Given the description of an element on the screen output the (x, y) to click on. 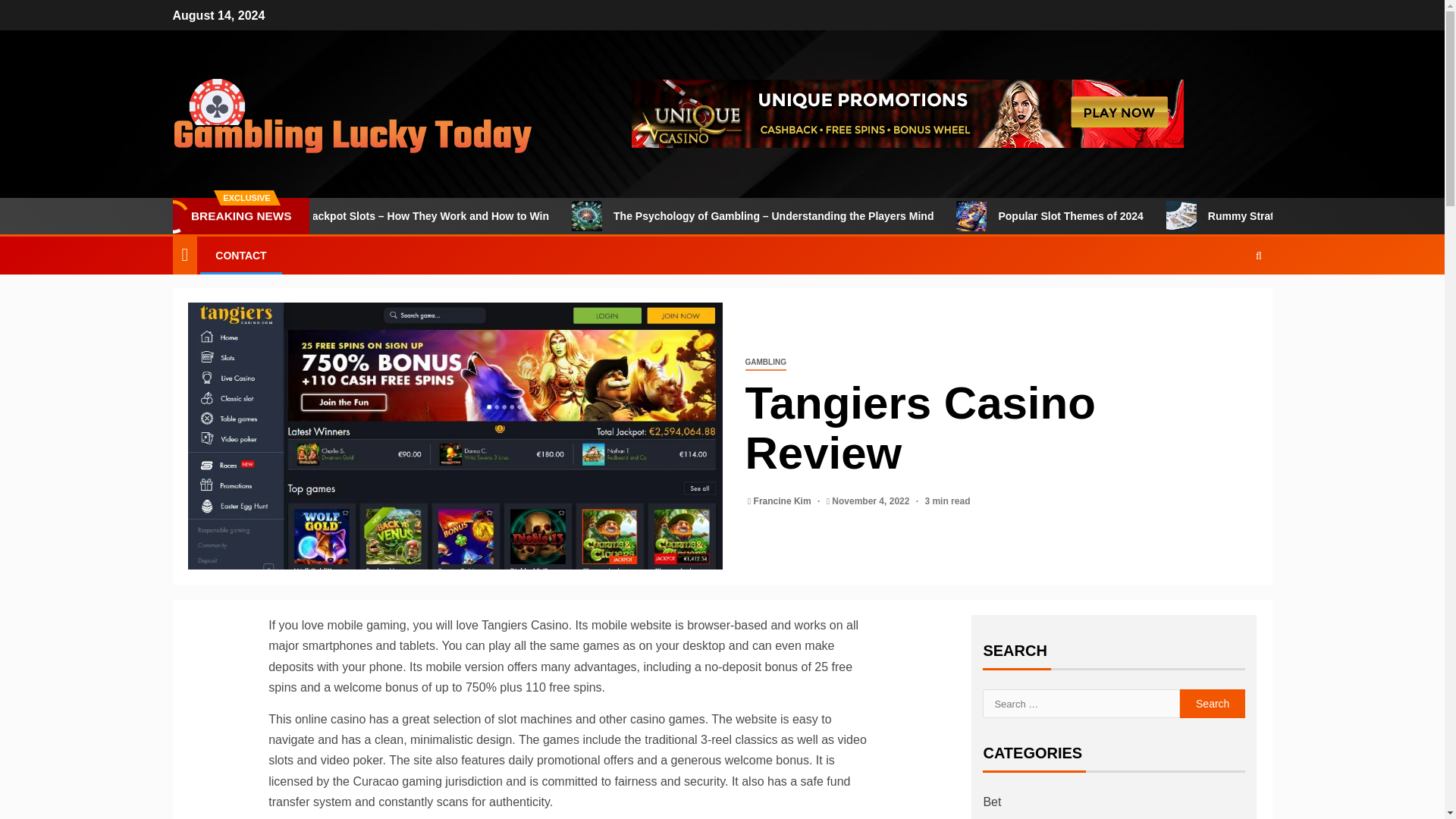
Search (1212, 703)
CONTACT (240, 255)
Search (1229, 300)
Popular Slot Themes of 2024 (1182, 215)
Search (1212, 703)
GAMBLING (765, 362)
Search (1212, 703)
Bet (991, 801)
Francine Kim (783, 501)
